Given the description of an element on the screen output the (x, y) to click on. 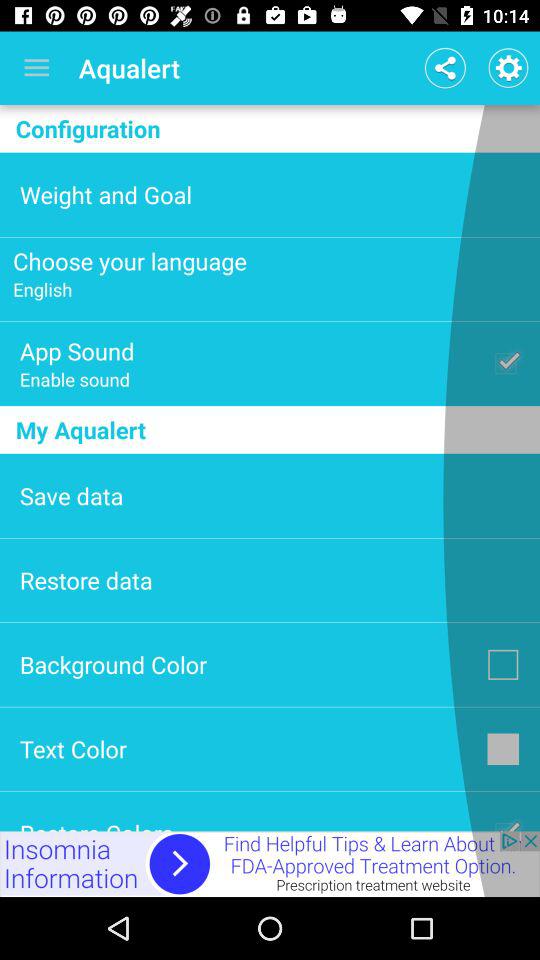
watch advertisement (270, 864)
